Given the description of an element on the screen output the (x, y) to click on. 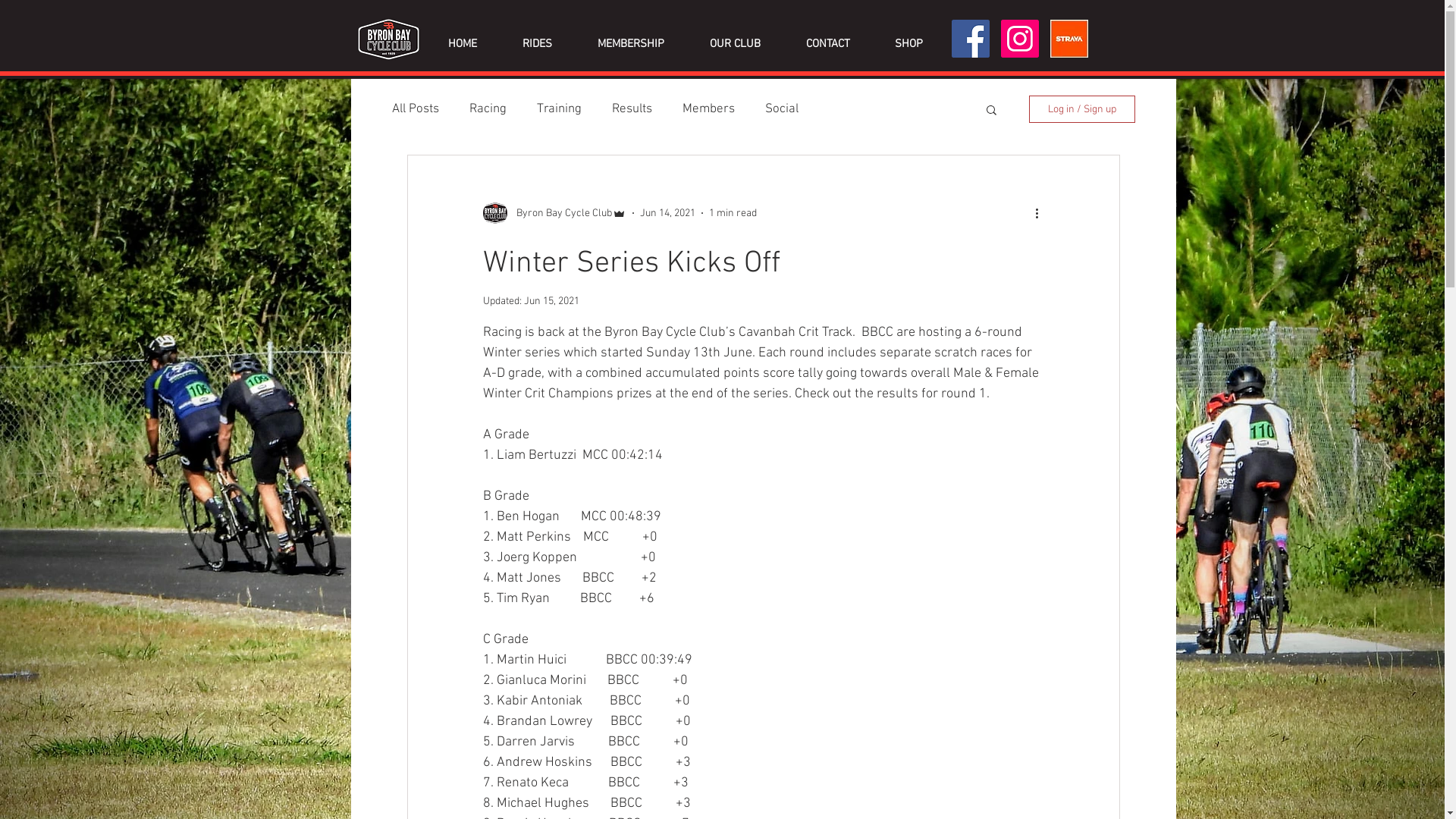
Results Element type: text (631, 108)
Log in / Sign up Element type: text (1081, 108)
Members Element type: text (708, 108)
All Posts Element type: text (414, 108)
Racing Element type: text (486, 108)
Training Element type: text (558, 108)
Social Element type: text (780, 108)
OUR CLUB Element type: text (735, 43)
MEMBERSHIP Element type: text (630, 43)
SHOP Element type: text (908, 43)
RIDES Element type: text (536, 43)
HOME Element type: text (461, 43)
CONTACT Element type: text (827, 43)
